Given the description of an element on the screen output the (x, y) to click on. 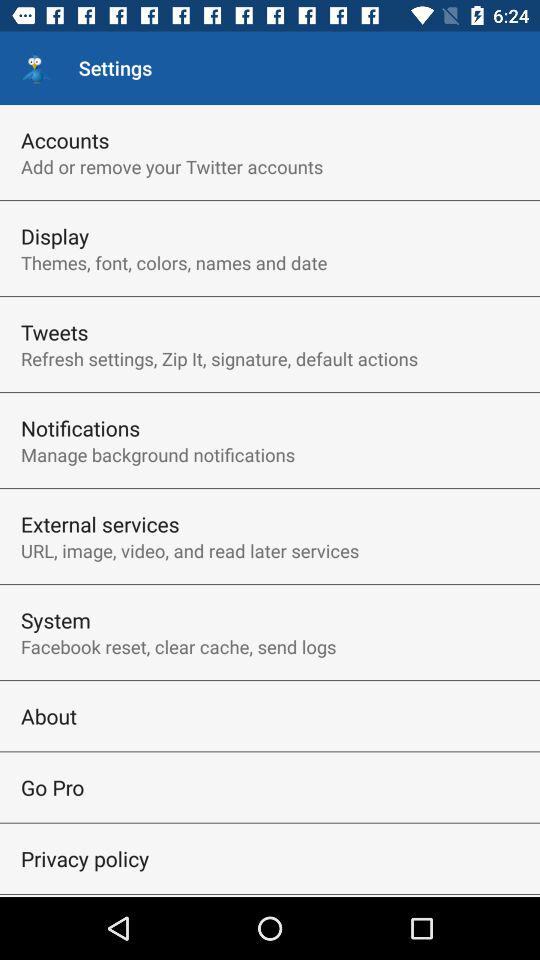
click item above the system icon (190, 550)
